Given the description of an element on the screen output the (x, y) to click on. 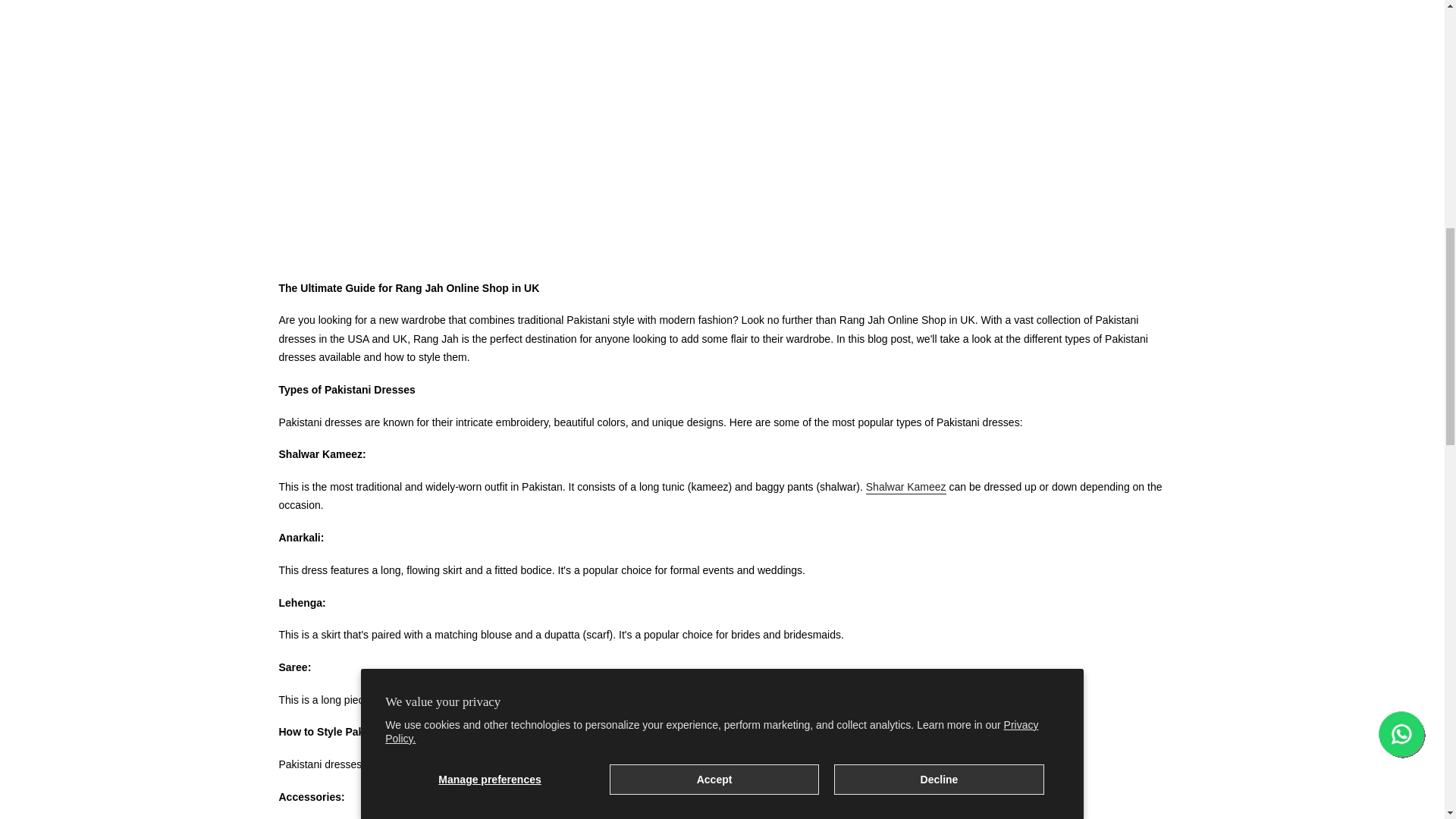
salwar kameez (906, 487)
